Given the description of an element on the screen output the (x, y) to click on. 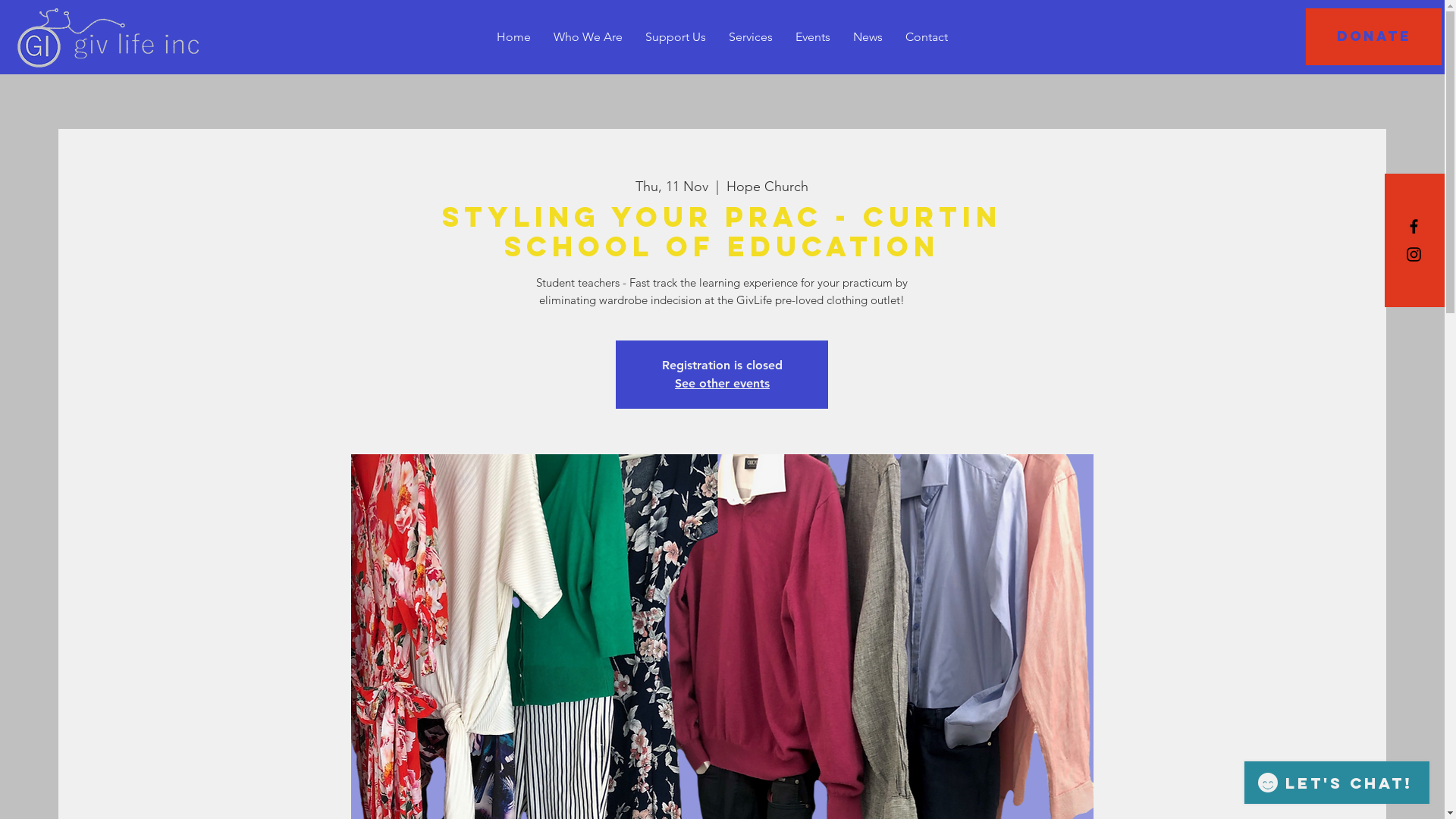
News Element type: text (867, 36)
Who We Are Element type: text (587, 36)
Support Us Element type: text (675, 36)
Contact Element type: text (926, 36)
Services Element type: text (750, 36)
Events Element type: text (812, 36)
See other events Element type: text (721, 383)
Home Element type: text (513, 36)
DONATE Element type: text (1373, 36)
